Given the description of an element on the screen output the (x, y) to click on. 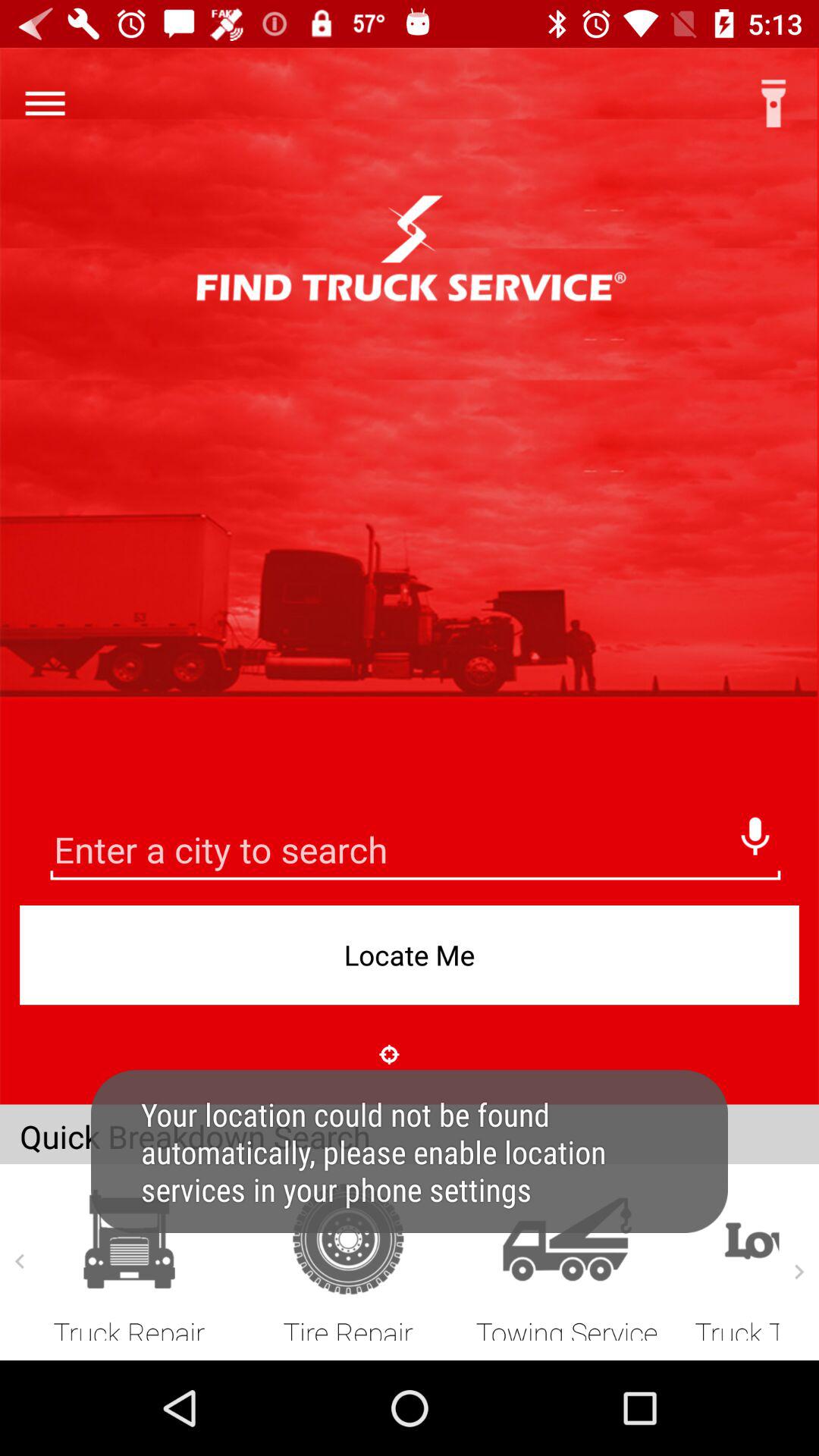
open settings (45, 103)
